Given the description of an element on the screen output the (x, y) to click on. 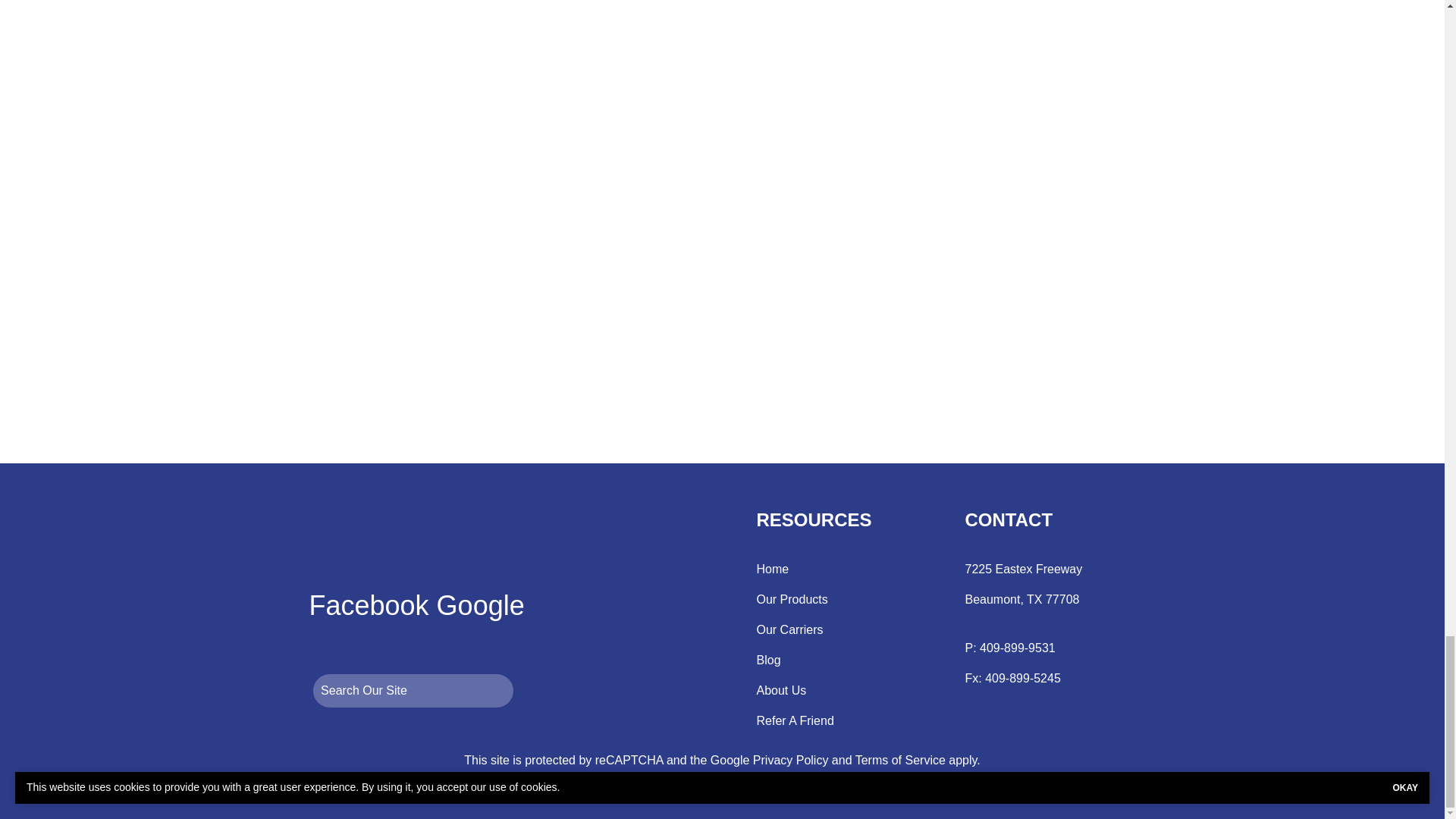
Insurance Website Builder (831, 789)
